Given the description of an element on the screen output the (x, y) to click on. 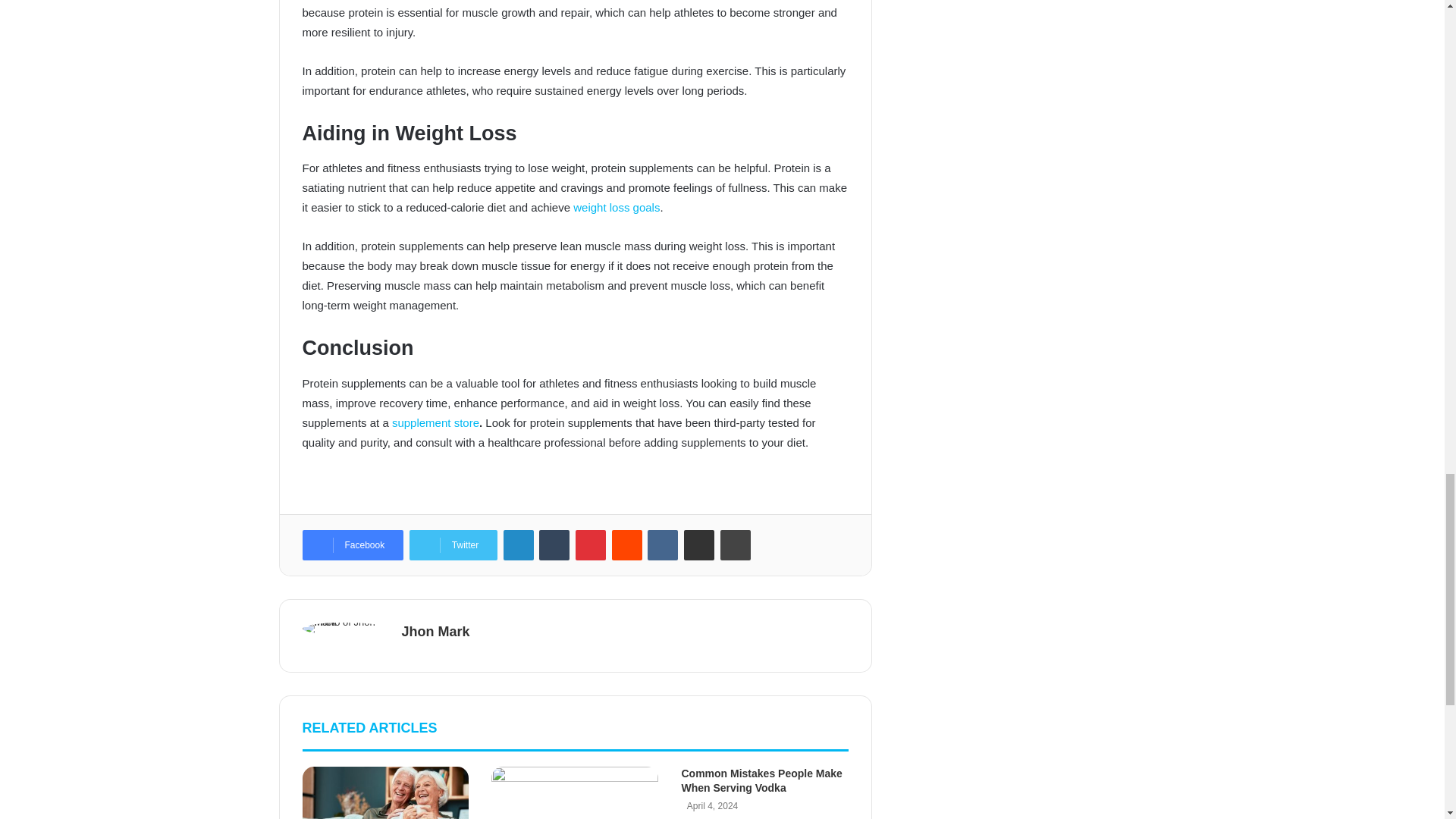
Jhon Mark (435, 631)
Share via Email (699, 544)
Reddit (626, 544)
Facebook (352, 544)
LinkedIn (518, 544)
weight loss goals (616, 206)
Pinterest (590, 544)
Twitter (453, 544)
Facebook (352, 544)
VKontakte (662, 544)
